Given the description of an element on the screen output the (x, y) to click on. 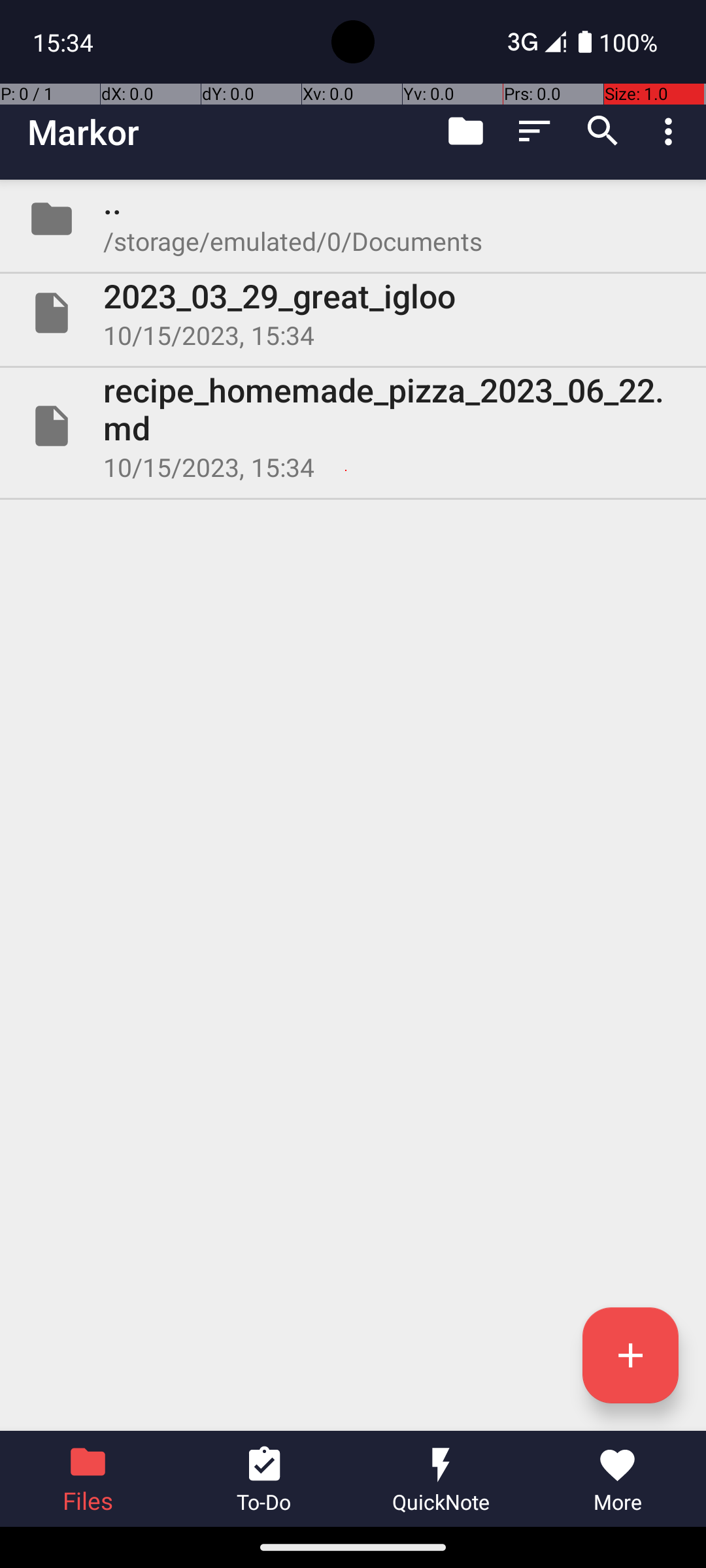
File 2023_03_29_great_igloo  Element type: android.widget.LinearLayout (353, 312)
File recipe_homemade_pizza_2023_06_22.md  Element type: android.widget.LinearLayout (353, 425)
